Given the description of an element on the screen output the (x, y) to click on. 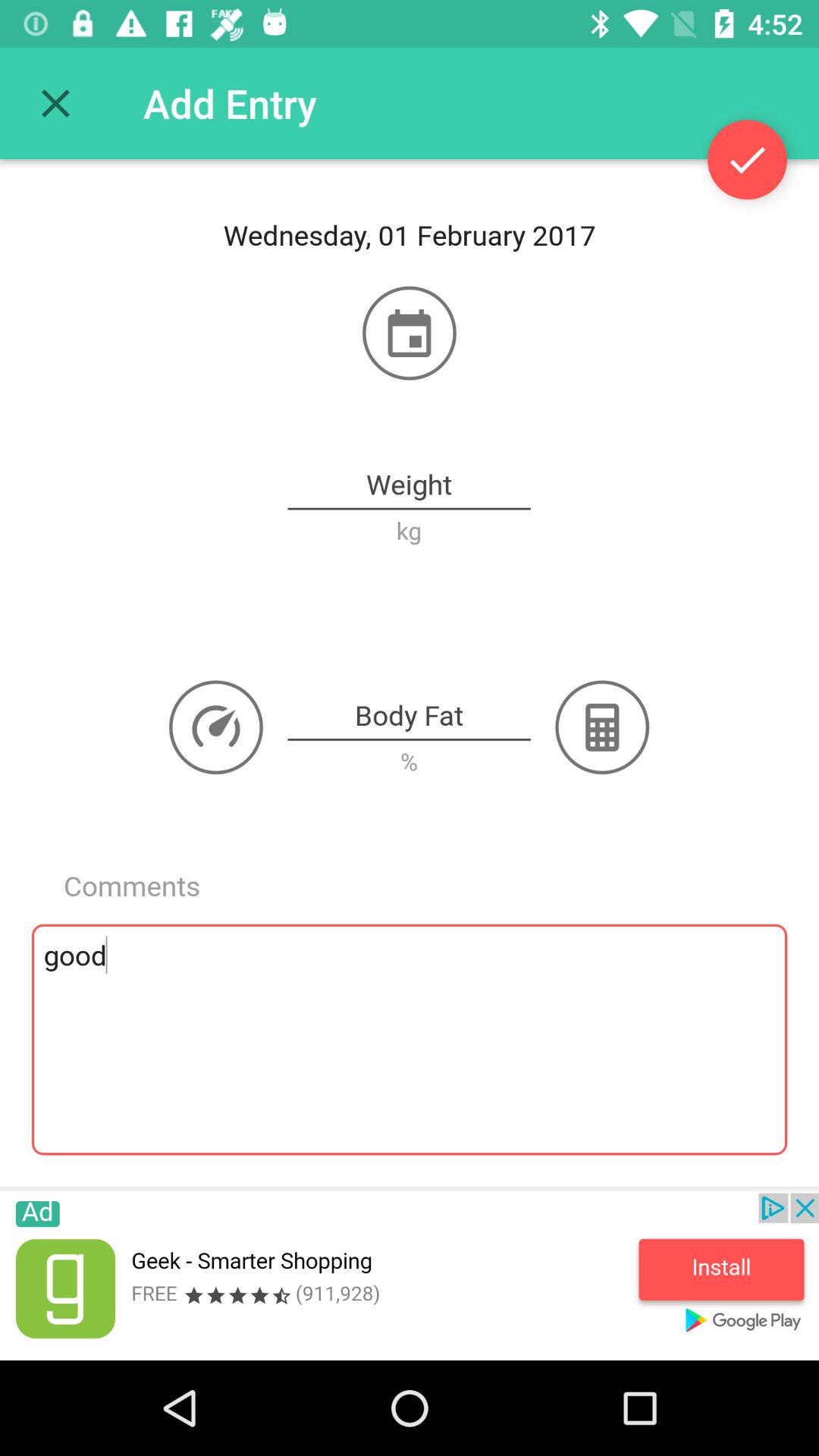
open calendar (409, 333)
